Given the description of an element on the screen output the (x, y) to click on. 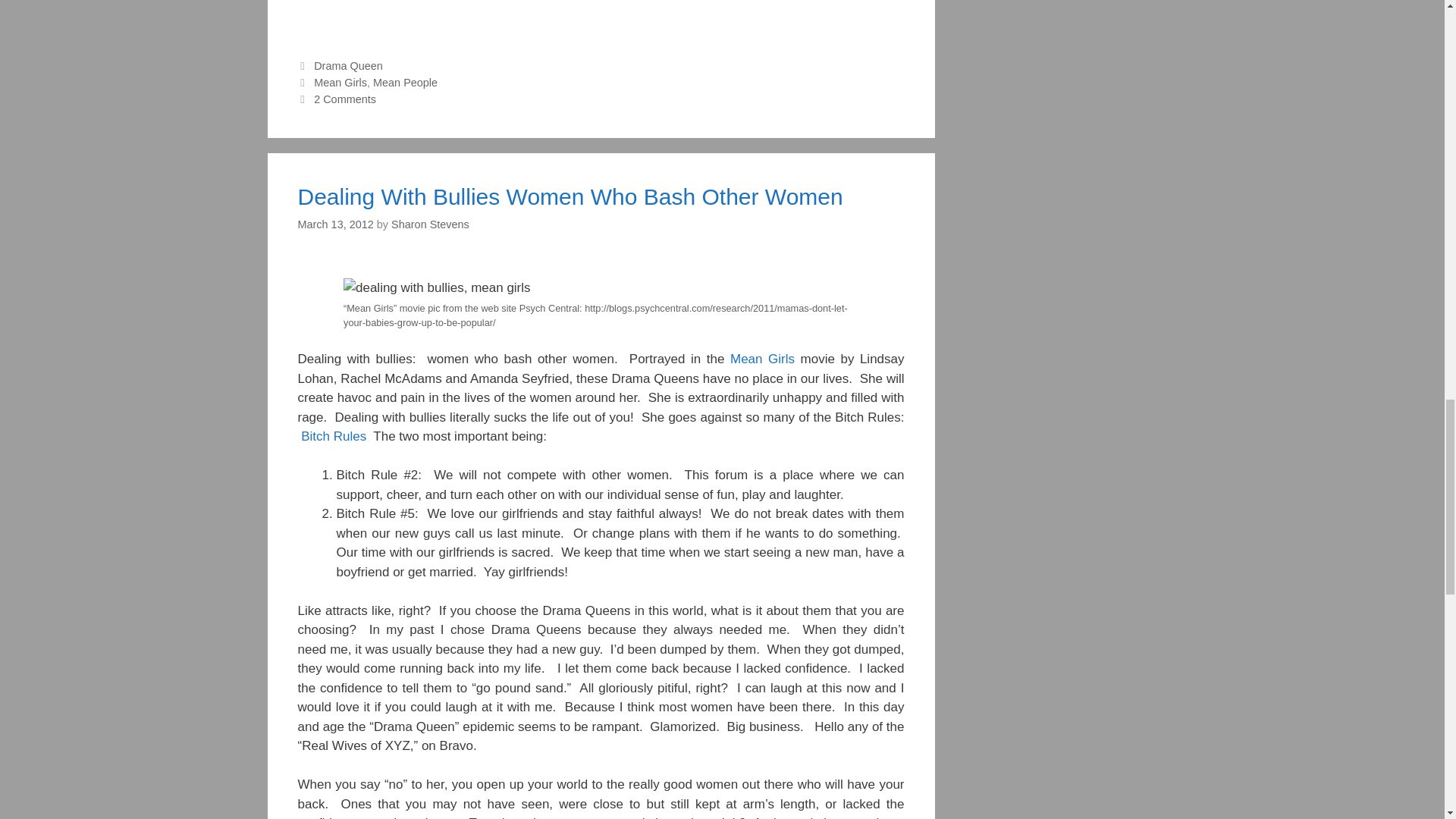
Mean Girls (340, 82)
Dealing With Bullies Women Who Bash Other Women (570, 196)
Bitch Rules (333, 436)
2 Comments (344, 99)
5:12 pm (334, 224)
Sharon Stevens (429, 224)
Mean People (405, 82)
Mean Girls (762, 359)
March 13, 2012 (334, 224)
View all posts by Sharon Stevens (429, 224)
Drama Queen (348, 65)
